Given the description of an element on the screen output the (x, y) to click on. 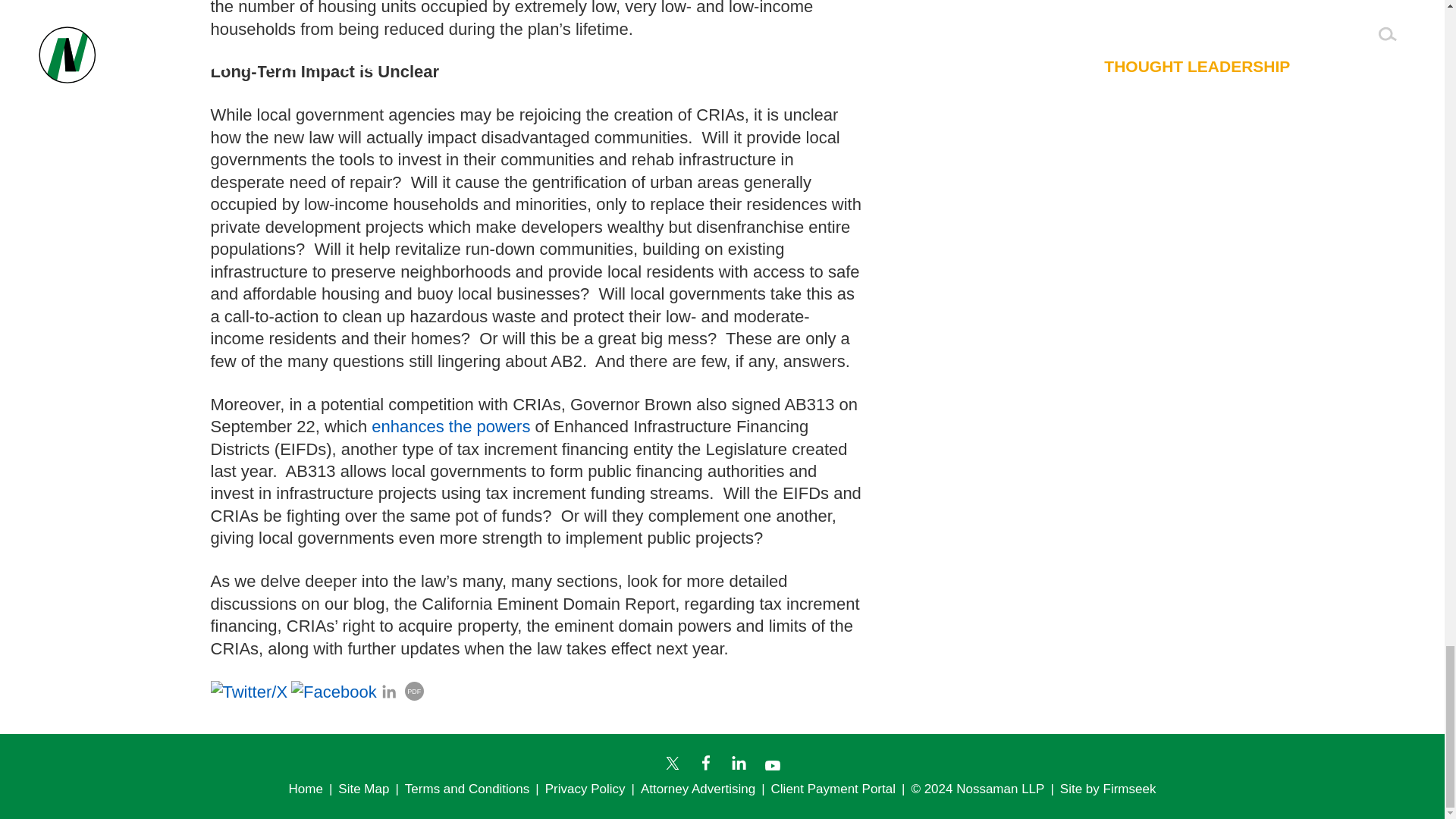
Share on LinkedIn (388, 691)
Share on Facebook (334, 690)
enhances the powers (452, 425)
PDF (413, 691)
Share on Twitter (249, 690)
